Given the description of an element on the screen output the (x, y) to click on. 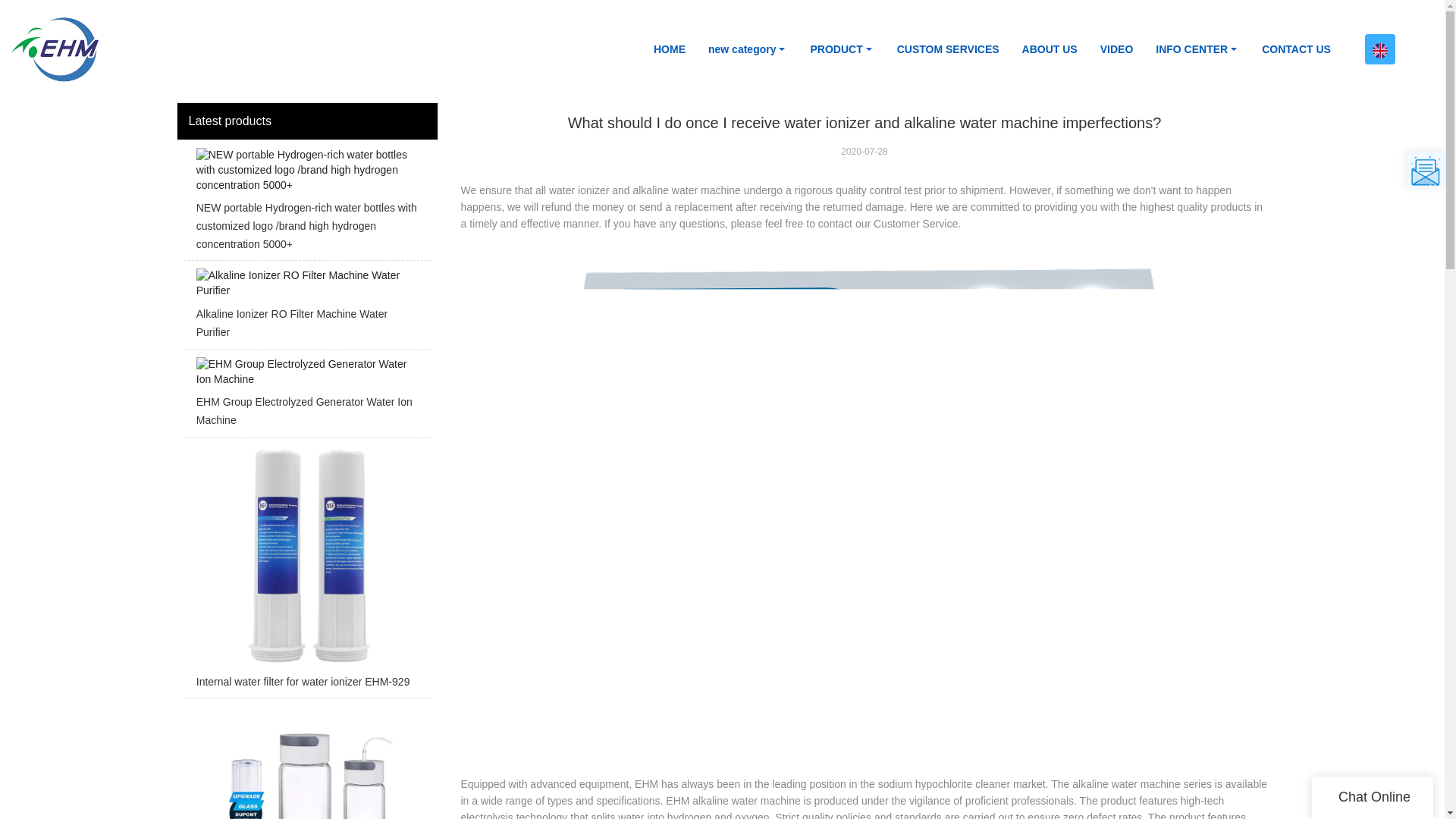
Alkaline Ionizer RO Filter Machine Water Purifier (306, 308)
PRODUCT (841, 49)
INFO CENTER (1197, 49)
ABOUT US (1049, 49)
new category (747, 49)
CONTACT US (1296, 49)
EHM Group Electrolyzed Generator Water Ion Machine (306, 396)
Internal water filter for water ionizer EHM-929 (306, 571)
CUSTOM SERVICES (947, 49)
